Given the description of an element on the screen output the (x, y) to click on. 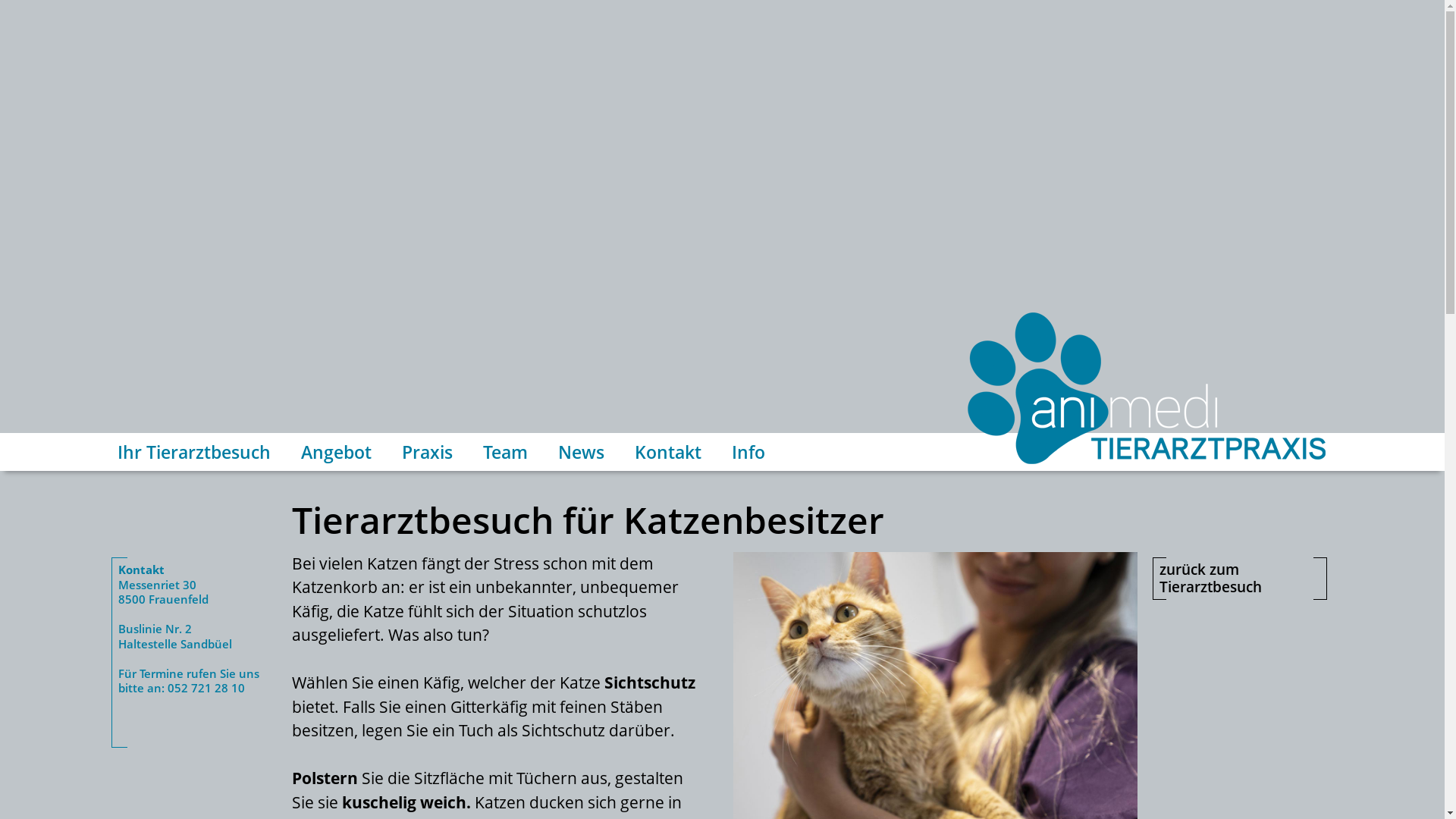
052 721 28 10 Element type: text (205, 687)
News Element type: text (581, 451)
Katzenbesitzer Element type: hover (935, 563)
Info Element type: text (748, 451)
Ihr Tierarztbesuch Element type: text (193, 451)
Team Element type: text (505, 451)
Praxis Element type: text (426, 451)
Angebot Element type: text (336, 451)
Kontakt Element type: text (667, 451)
